Given the description of an element on the screen output the (x, y) to click on. 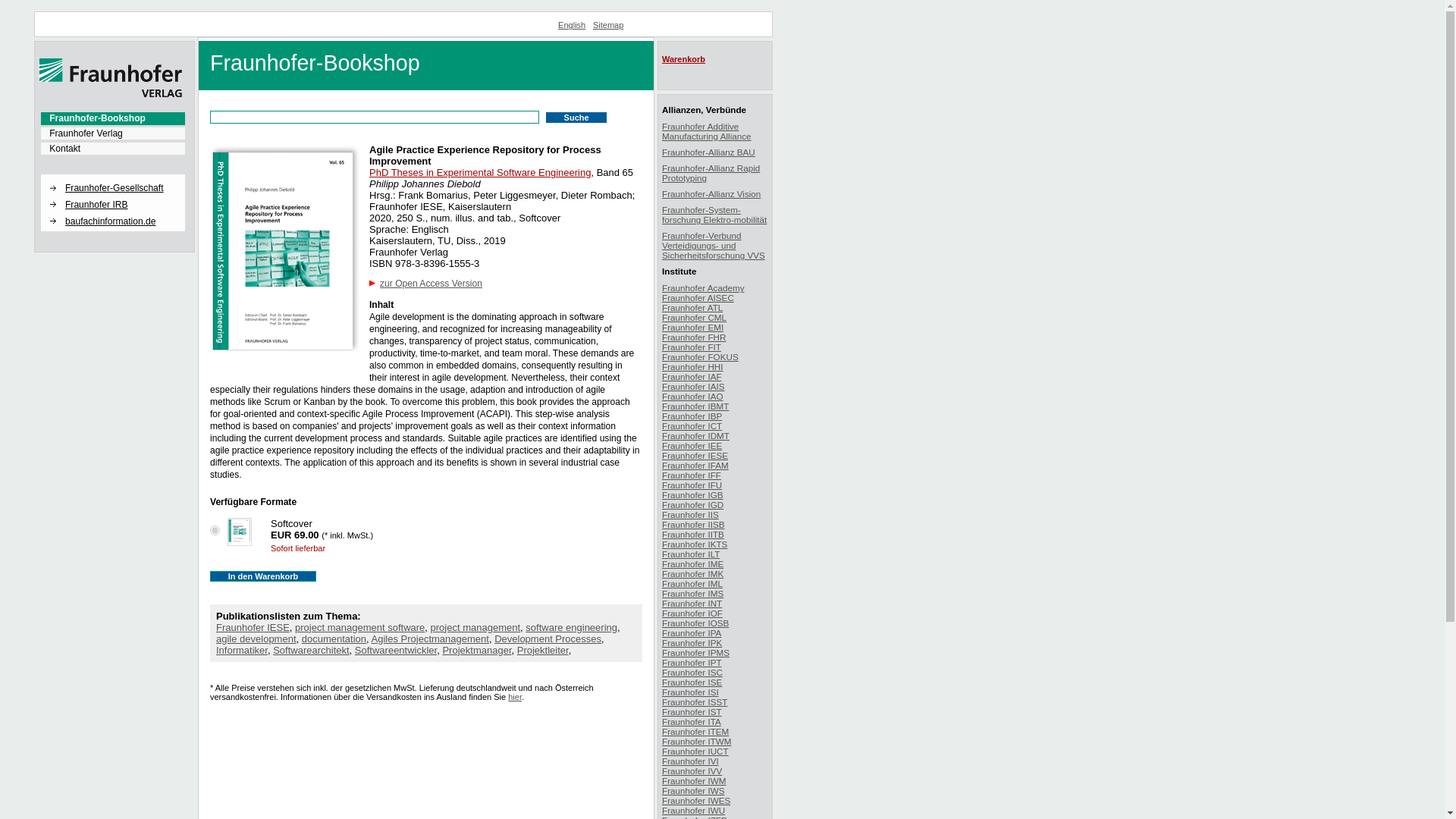
Fraunhofer-Allianz BAU (708, 152)
Fraunhofer Academy (703, 287)
zur Open Access Version (430, 283)
In den Warenkorb (262, 575)
Fraunhofer-Gesellschaft (120, 187)
Agiles Projectmanagement (430, 638)
agile development (256, 638)
Fraunhofer-Allianz Vision (711, 194)
Fraunhofer IESE (252, 627)
Fraunhofer-Allianz Rapid Prototyping (711, 172)
Fraunhofer IRB (120, 203)
software engineering (571, 627)
zur Startseite (111, 94)
project management (475, 627)
